Given the description of an element on the screen output the (x, y) to click on. 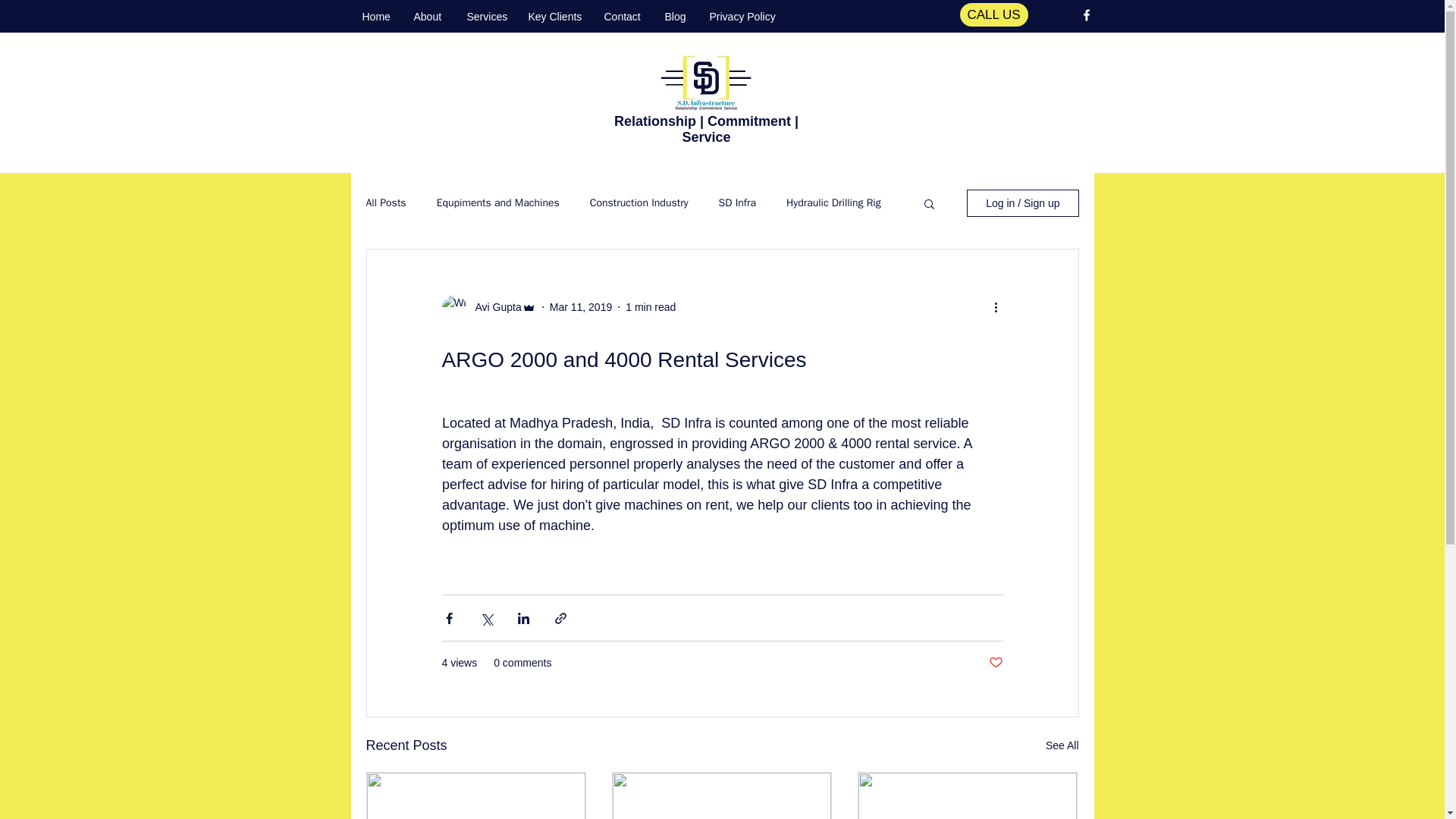
Home (375, 15)
Equpiments and Machines (497, 202)
1 min read (650, 306)
Post not marked as liked (995, 662)
Blog (675, 15)
Services (485, 15)
Contact (622, 15)
See All (1061, 745)
All Posts (385, 202)
Privacy Policy (739, 15)
